Given the description of an element on the screen output the (x, y) to click on. 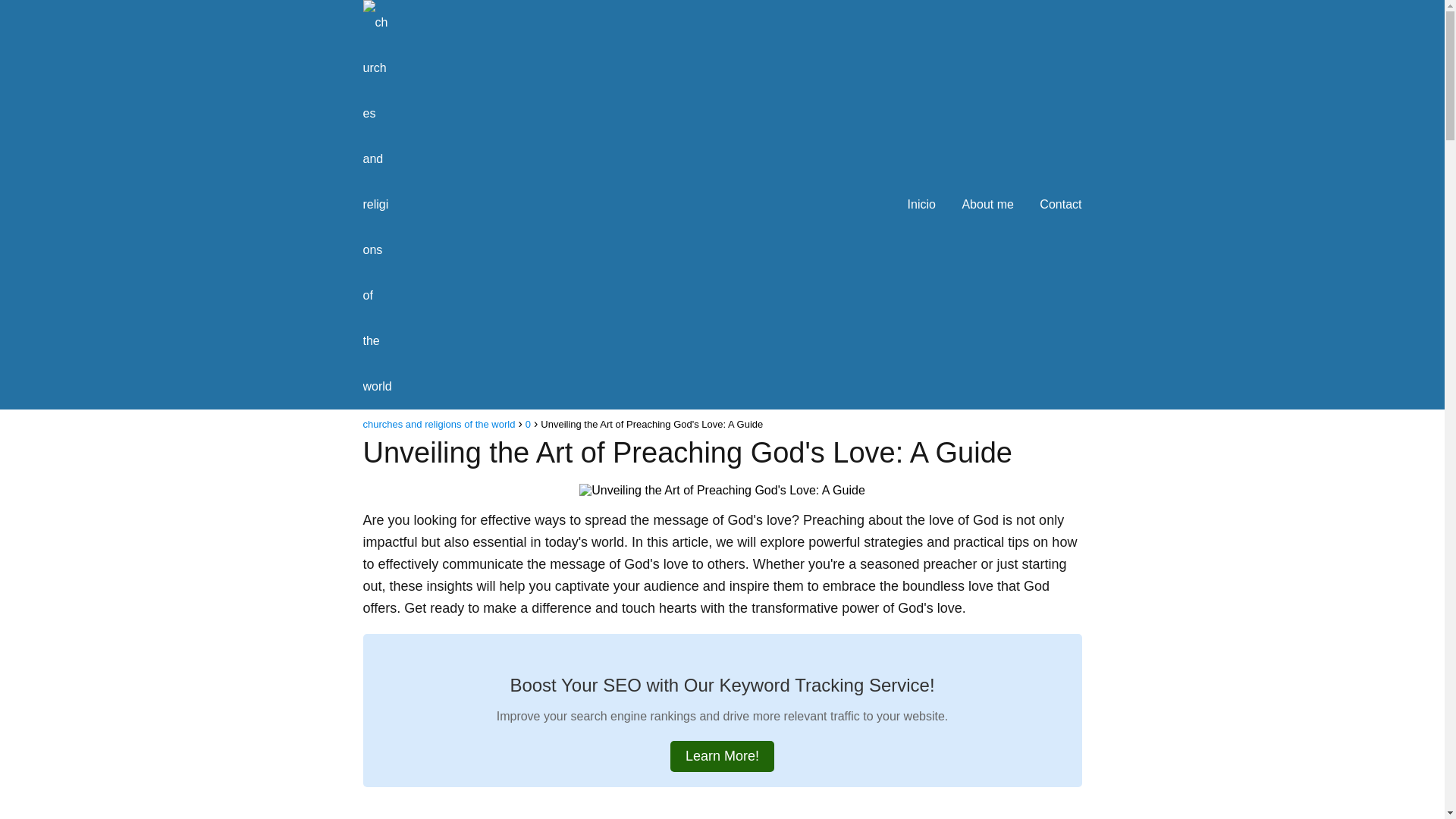
Inicio (921, 204)
About me (986, 204)
churches and religions of the world (438, 423)
Contact (1060, 204)
Learn More! (721, 756)
